Given the description of an element on the screen output the (x, y) to click on. 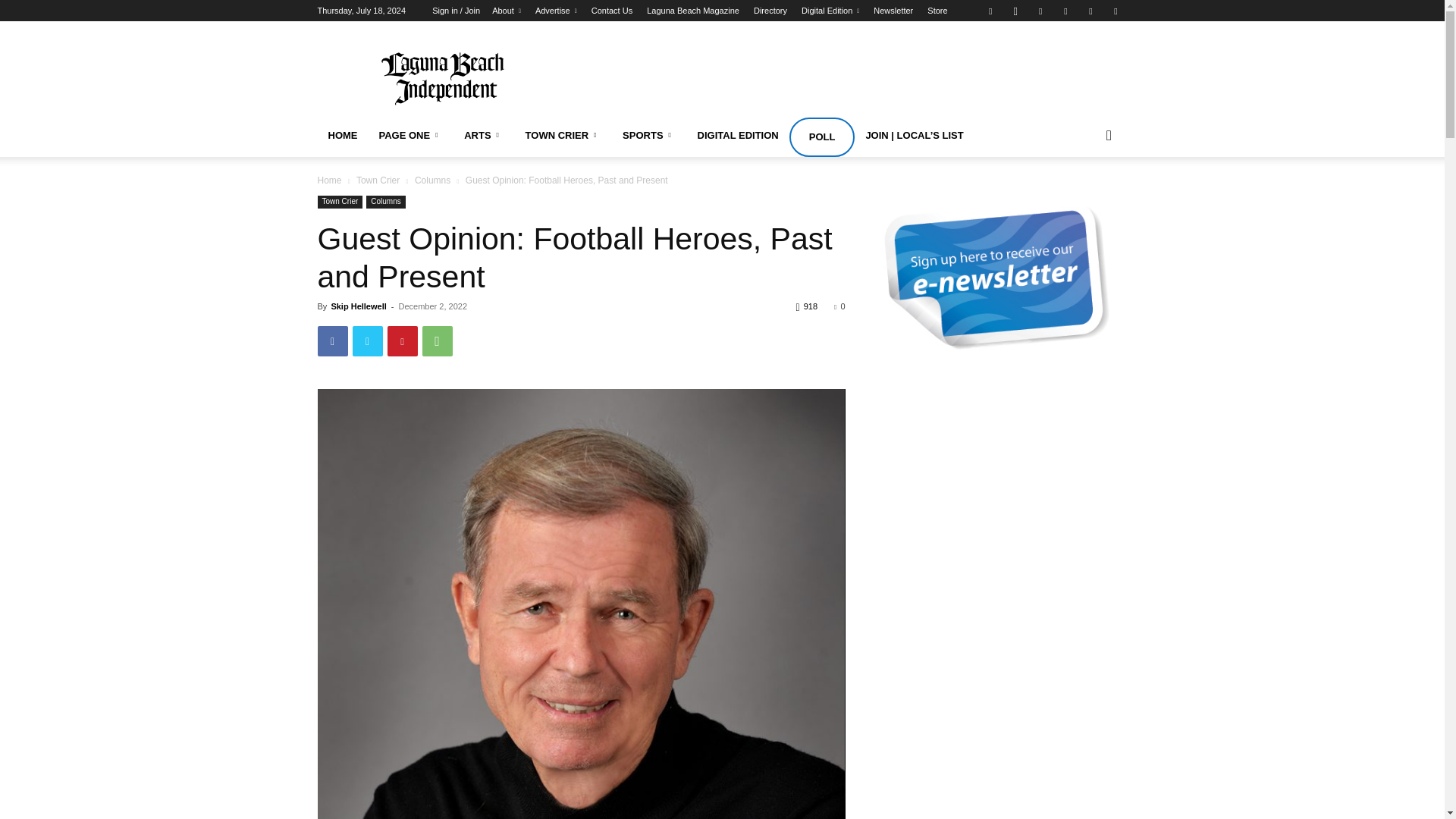
View all posts in Town Crier (377, 180)
Instagram (1015, 10)
Linkedin (1040, 10)
Youtube (1114, 10)
RSS (1065, 10)
Facebook (989, 10)
Twitter (1090, 10)
Facebook (332, 340)
View all posts in Columns (431, 180)
